Given the description of an element on the screen output the (x, y) to click on. 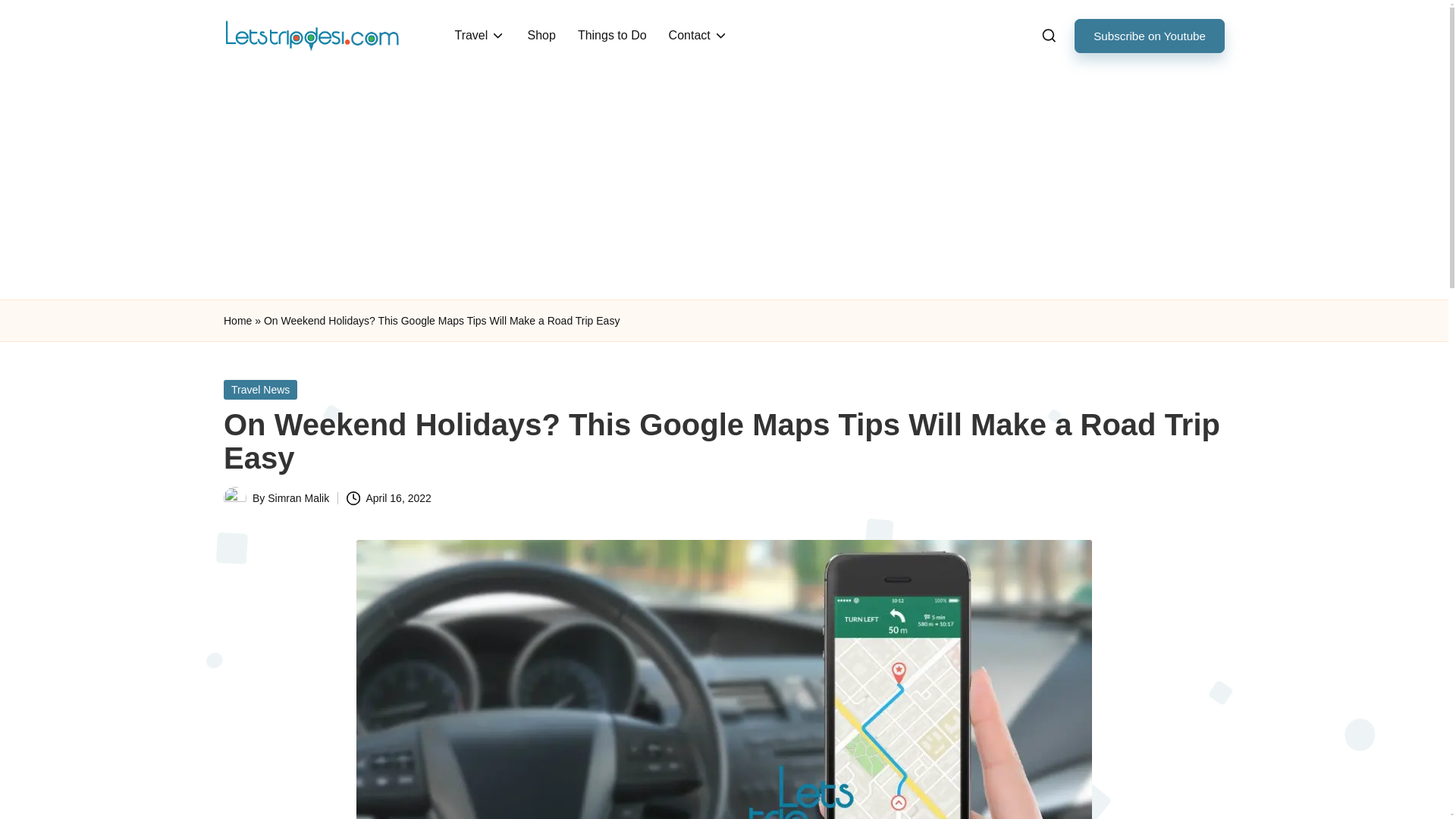
Contact (698, 35)
Home (237, 321)
Shop (541, 35)
Subscribe on Youtube (1149, 35)
Travel News (260, 389)
View all posts by Simran Malik (298, 498)
Travel (479, 35)
Things to Do (612, 35)
Simran Malik (298, 498)
